Given the description of an element on the screen output the (x, y) to click on. 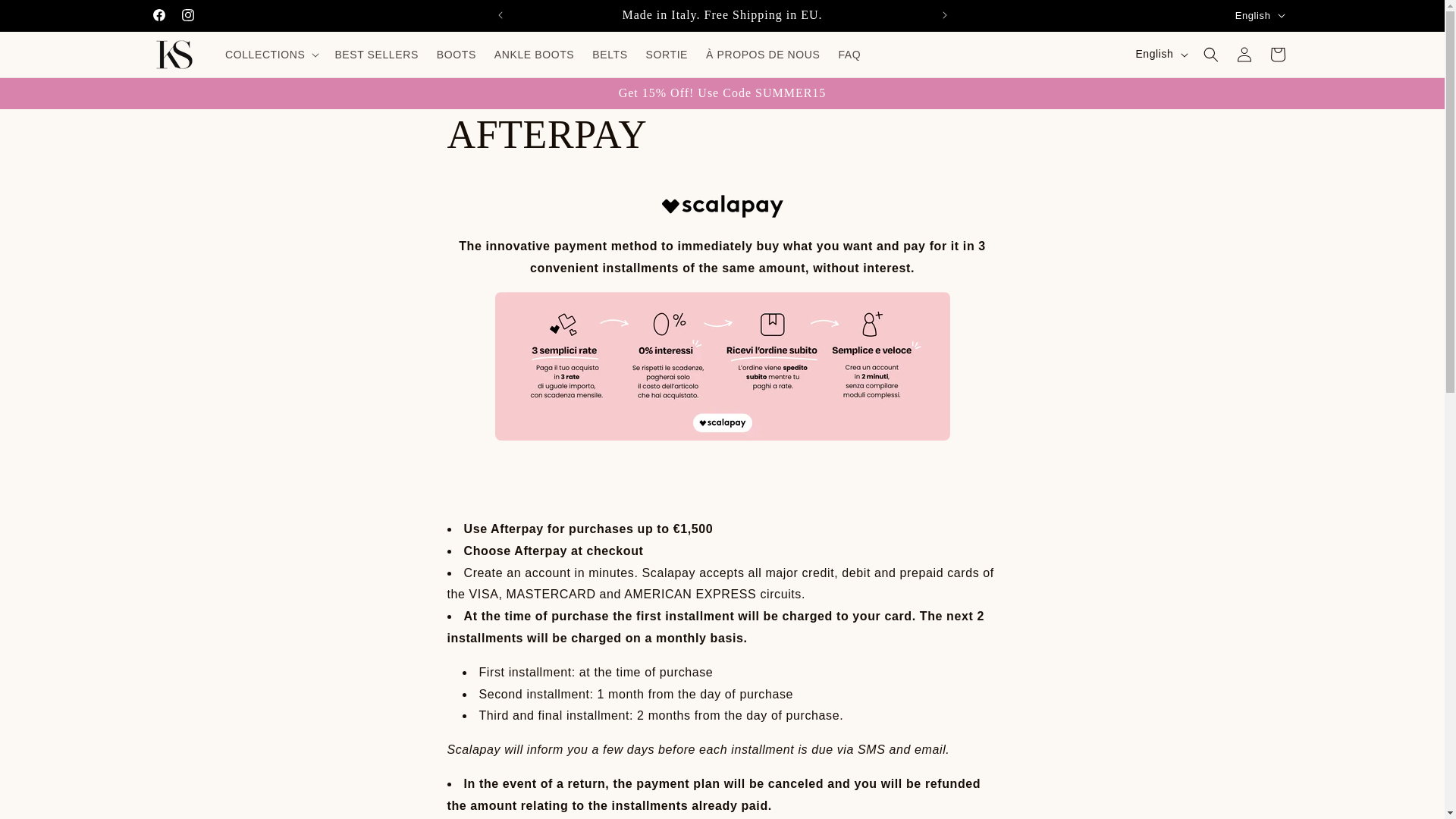
SKIP TO CONTENT (45, 17)
English (1258, 14)
Facebook (158, 14)
BOOTS (456, 54)
BEST SELLERS (375, 54)
SORTIE (667, 54)
ANKLE BOOTS (533, 54)
Instagram (187, 14)
BELTS (609, 54)
